Given the description of an element on the screen output the (x, y) to click on. 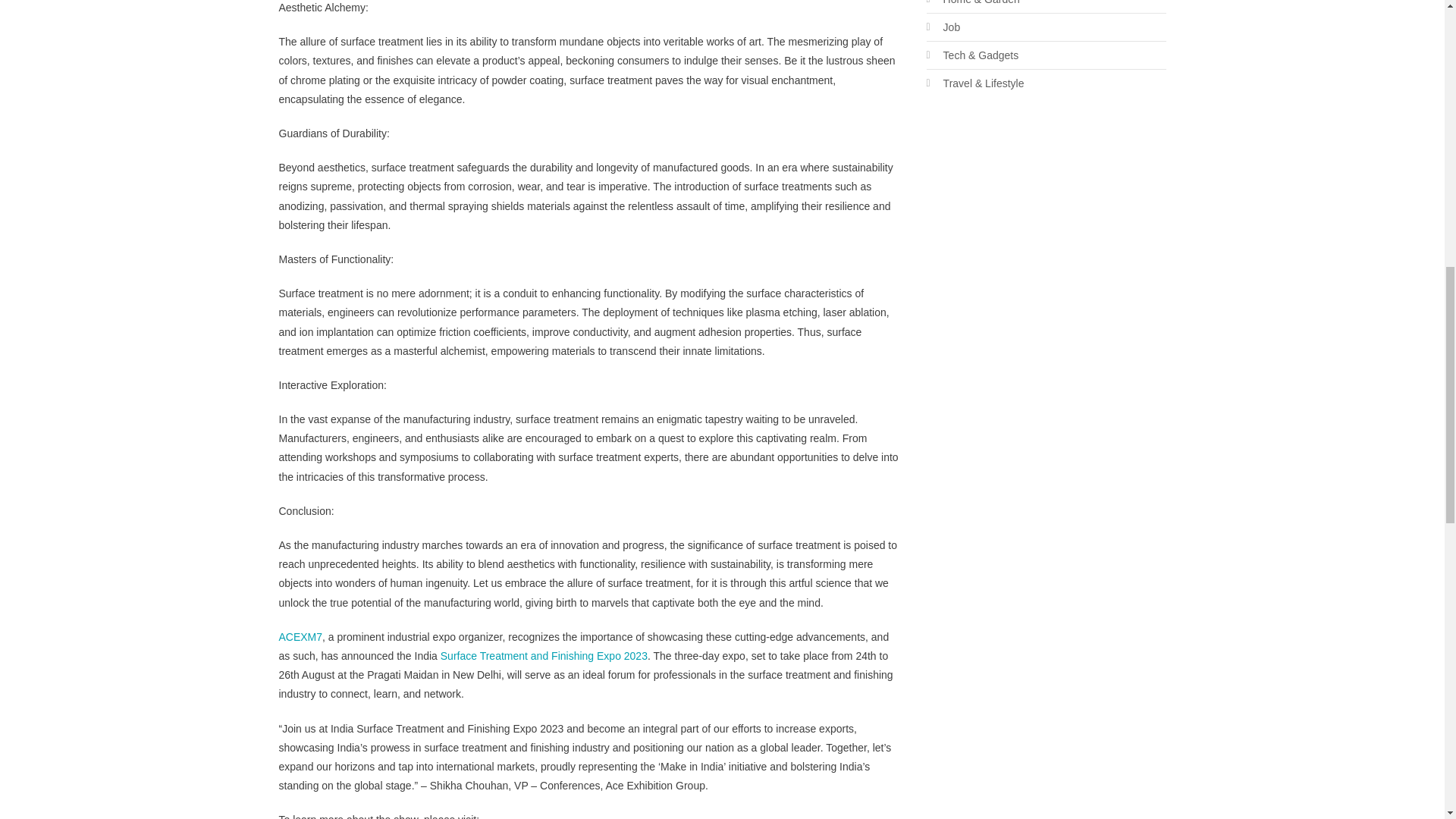
ACEXM7 (301, 636)
Surface Treatment and Finishing Expo 2023 (544, 655)
